Given the description of an element on the screen output the (x, y) to click on. 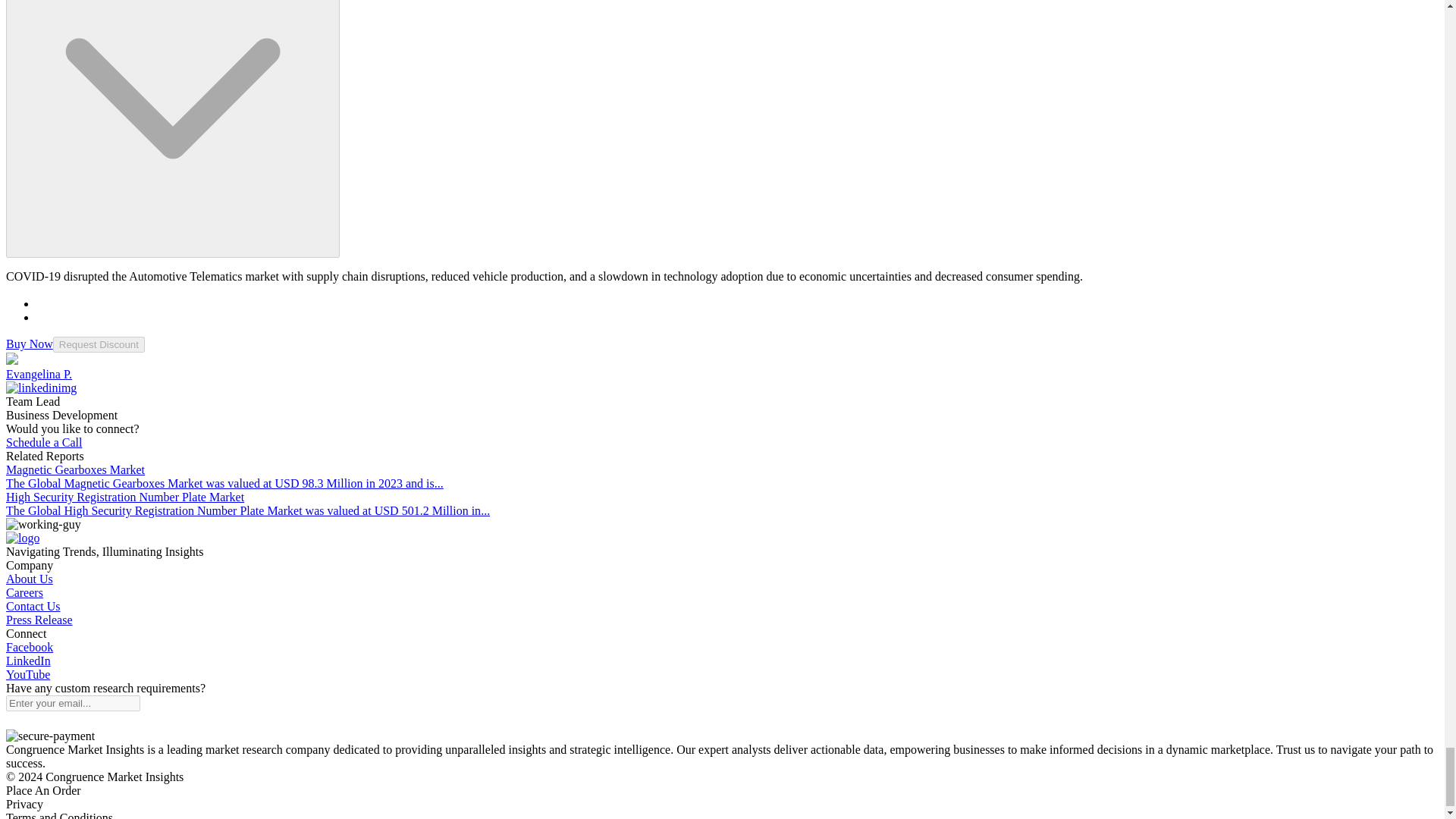
LinkedIn (27, 660)
YouTube (27, 674)
Request Discount (98, 344)
Buy Now (28, 343)
Schedule a Call (43, 441)
Facebook (28, 646)
